Given the description of an element on the screen output the (x, y) to click on. 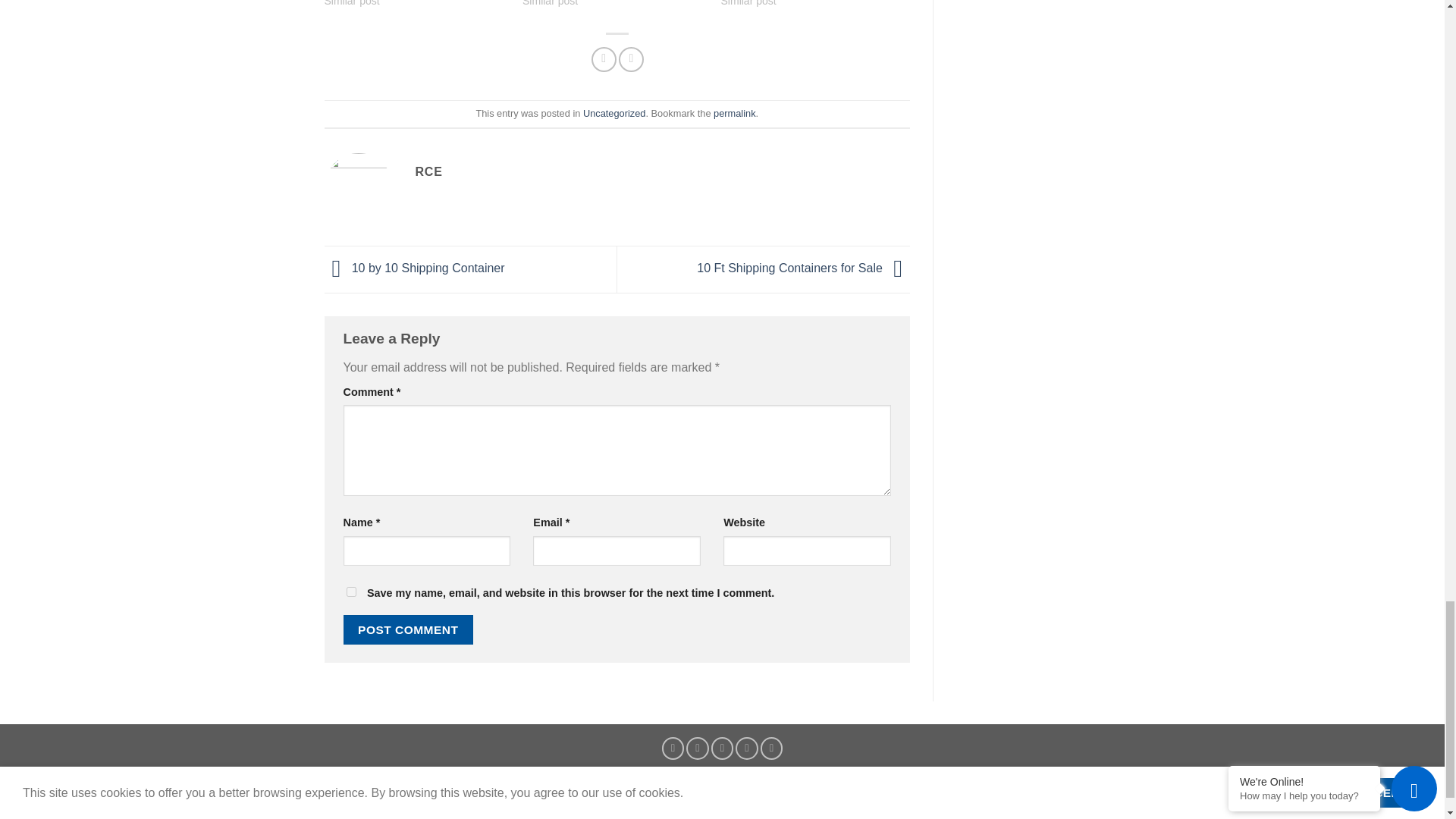
Share on Facebook (603, 59)
Post Comment (407, 629)
Uncategorized (614, 112)
10 Ft Shipping Containers for Sale (803, 268)
permalink (734, 112)
Post Comment (407, 629)
10 by 10 Shipping Container (414, 268)
Email to a Friend (630, 59)
yes (350, 592)
